Given the description of an element on the screen output the (x, y) to click on. 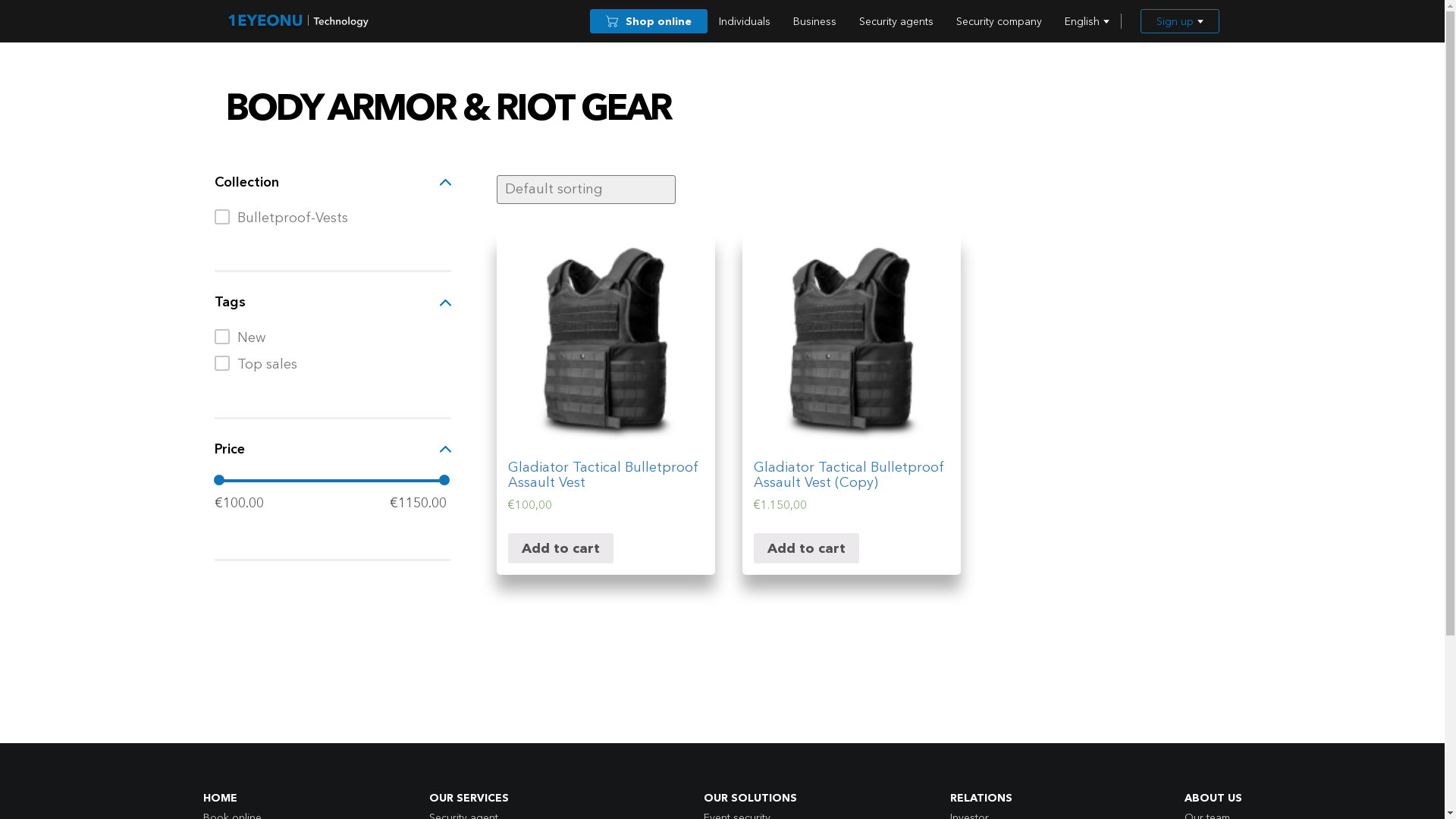
Individuals Element type: text (743, 20)
Shop online Element type: text (648, 21)
Sign up Element type: text (1179, 21)
Business Element type: text (814, 20)
English Element type: text (1086, 20)
Add to cart Element type: text (806, 548)
Security company Element type: text (998, 20)
Add to cart Element type: text (560, 548)
Security agents Element type: text (895, 20)
